Given the description of an element on the screen output the (x, y) to click on. 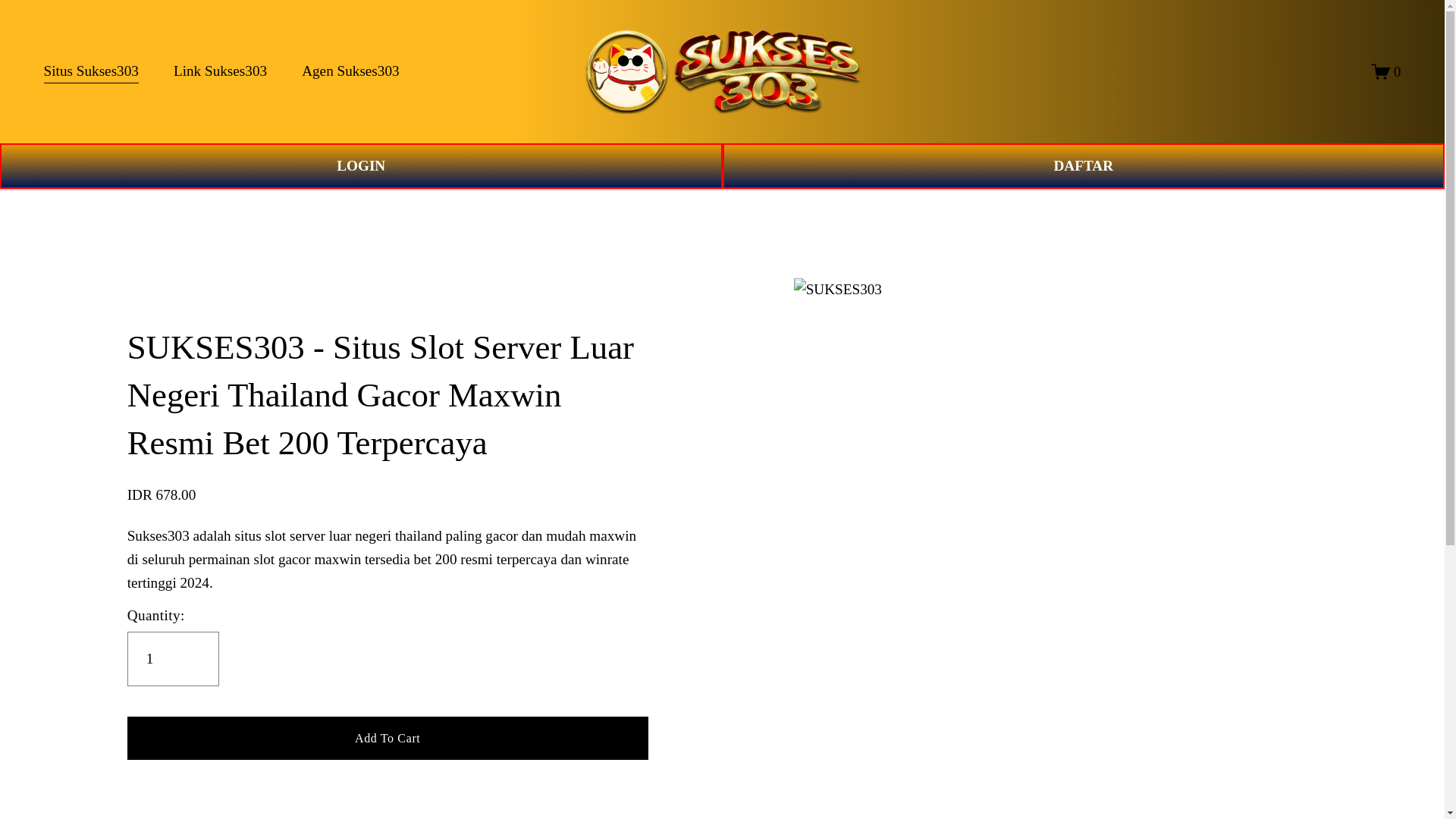
0 (1385, 71)
Agen Sukses303 (349, 71)
1 (173, 658)
Situs Sukses303 (90, 71)
Add To Cart (387, 737)
Link Sukses303 (219, 71)
LOGIN (361, 166)
